Given the description of an element on the screen output the (x, y) to click on. 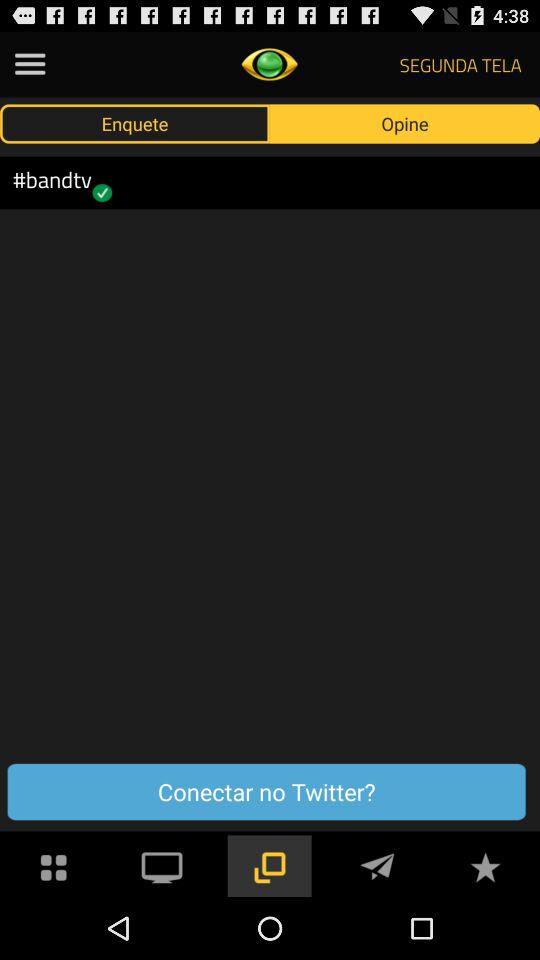
tap for menu (54, 865)
